Given the description of an element on the screen output the (x, y) to click on. 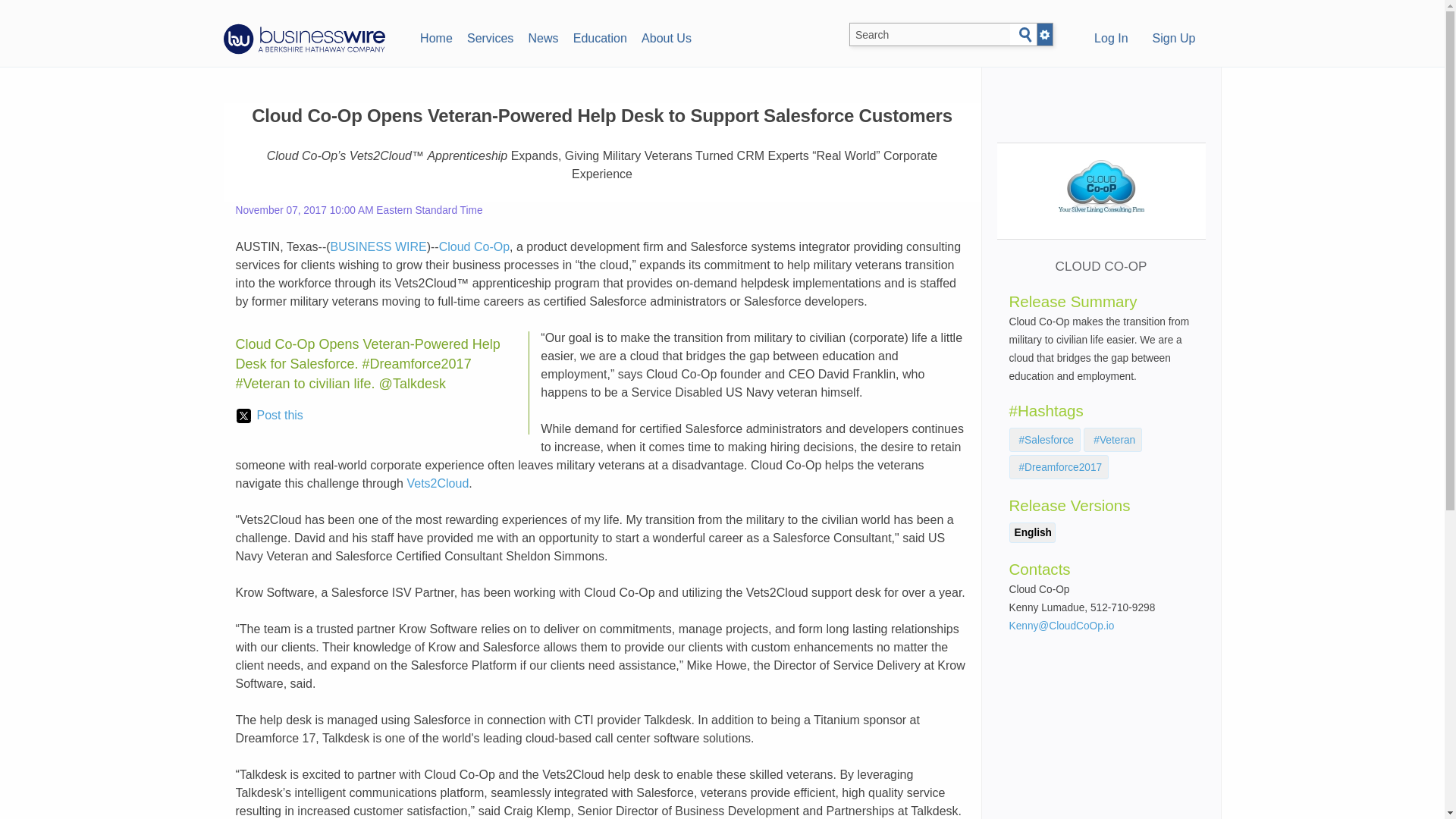
Search (1025, 34)
Search BusinessWire.com (930, 34)
News (543, 36)
Services (490, 36)
Vets2Cloud (437, 482)
Education (599, 36)
Post this (269, 415)
Home (436, 36)
Cloud Co-Op (474, 246)
BUSINESS WIRE (378, 246)
